Given the description of an element on the screen output the (x, y) to click on. 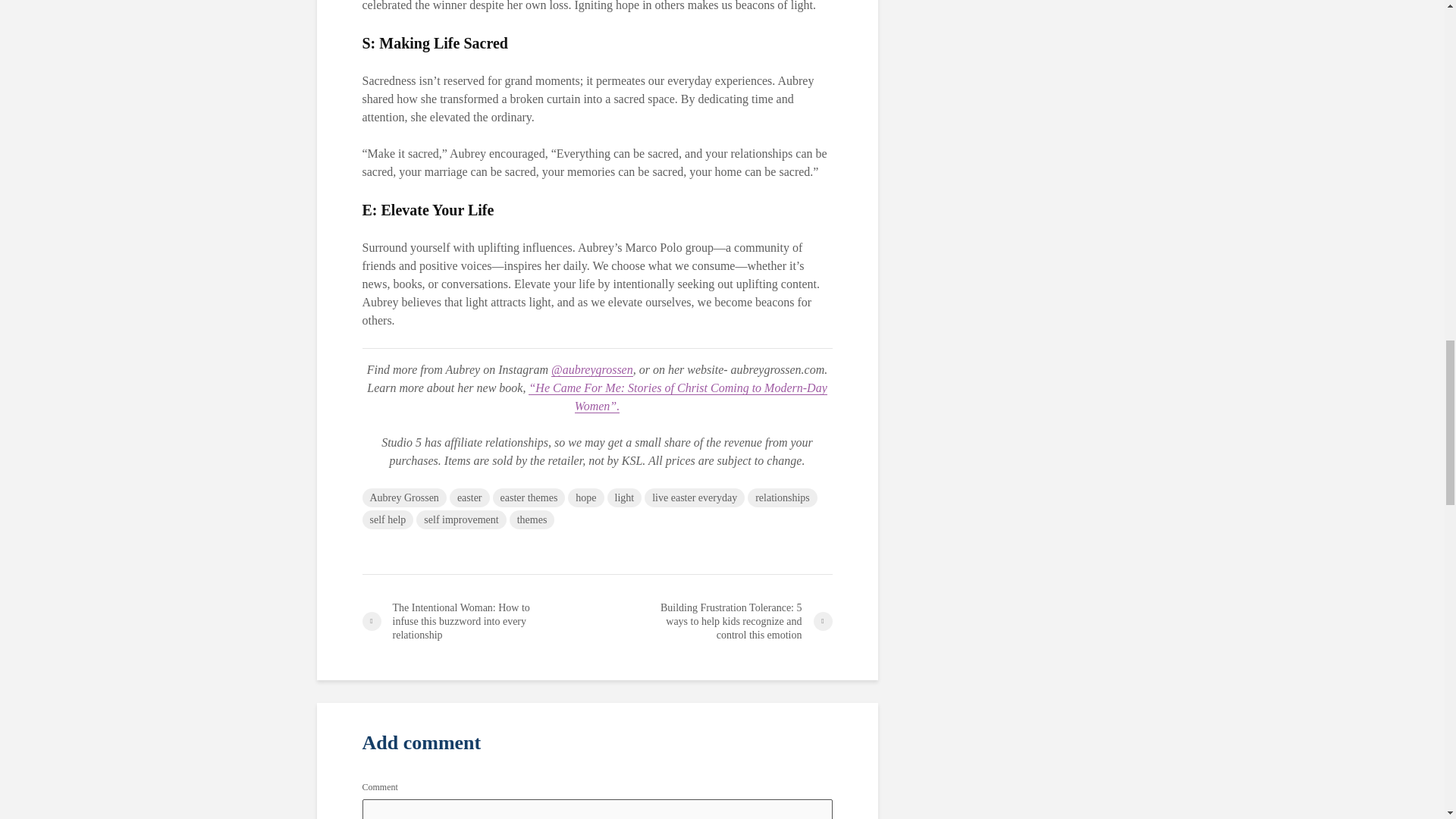
self help (387, 519)
light (624, 497)
relationships (782, 497)
Aubrey Grossen (404, 497)
easter themes (529, 497)
self improvement (460, 519)
hope (585, 497)
easter (469, 497)
live easter everyday (694, 497)
themes (531, 519)
